Given the description of an element on the screen output the (x, y) to click on. 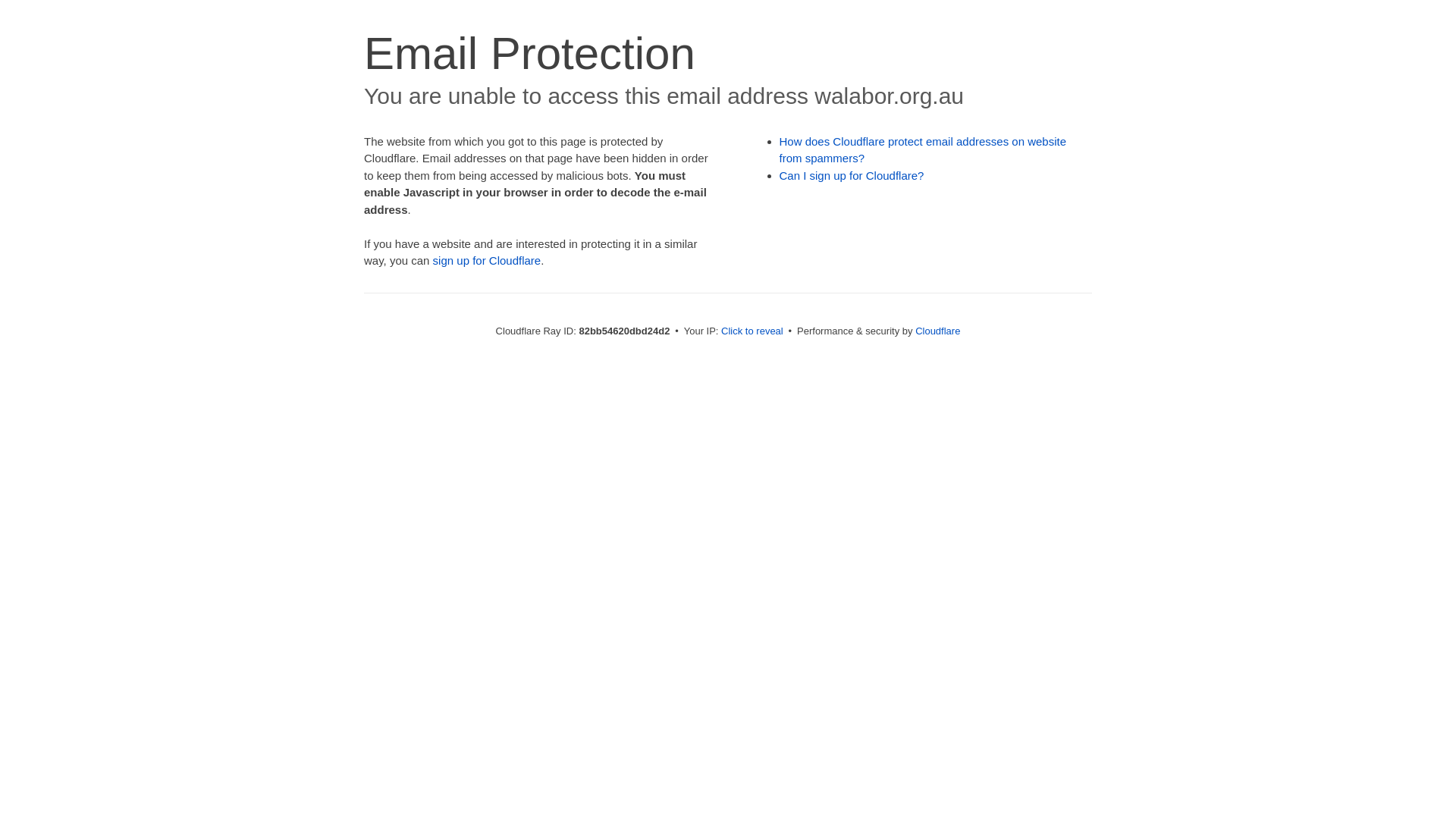
Can I sign up for Cloudflare? Element type: text (851, 175)
sign up for Cloudflare Element type: text (487, 260)
Cloudflare Element type: text (937, 330)
Click to reveal Element type: text (752, 330)
